Given the description of an element on the screen output the (x, y) to click on. 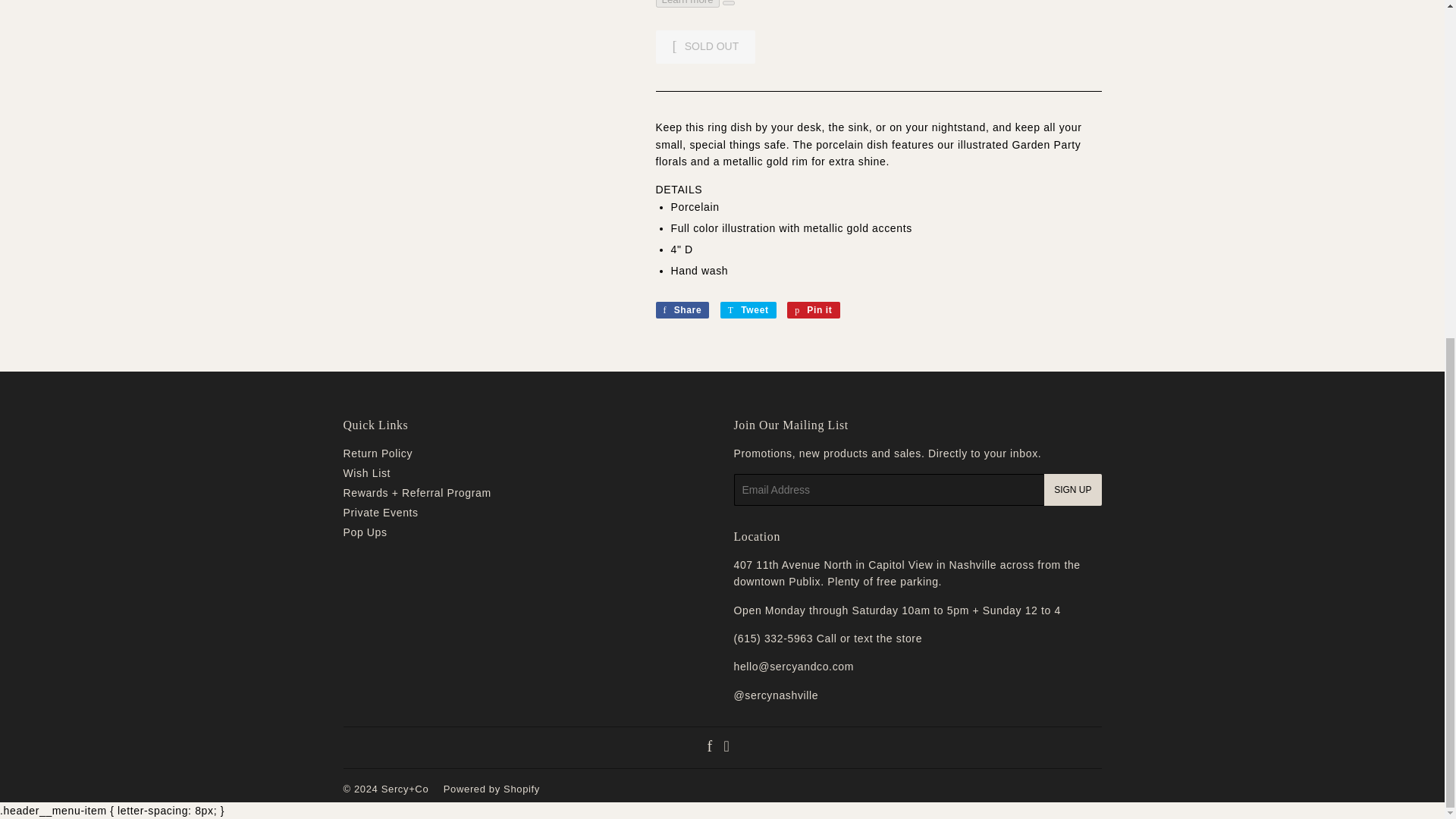
Pin on Pinterest (813, 310)
Share on Facebook (682, 310)
Tweet on Twitter (748, 310)
